Given the description of an element on the screen output the (x, y) to click on. 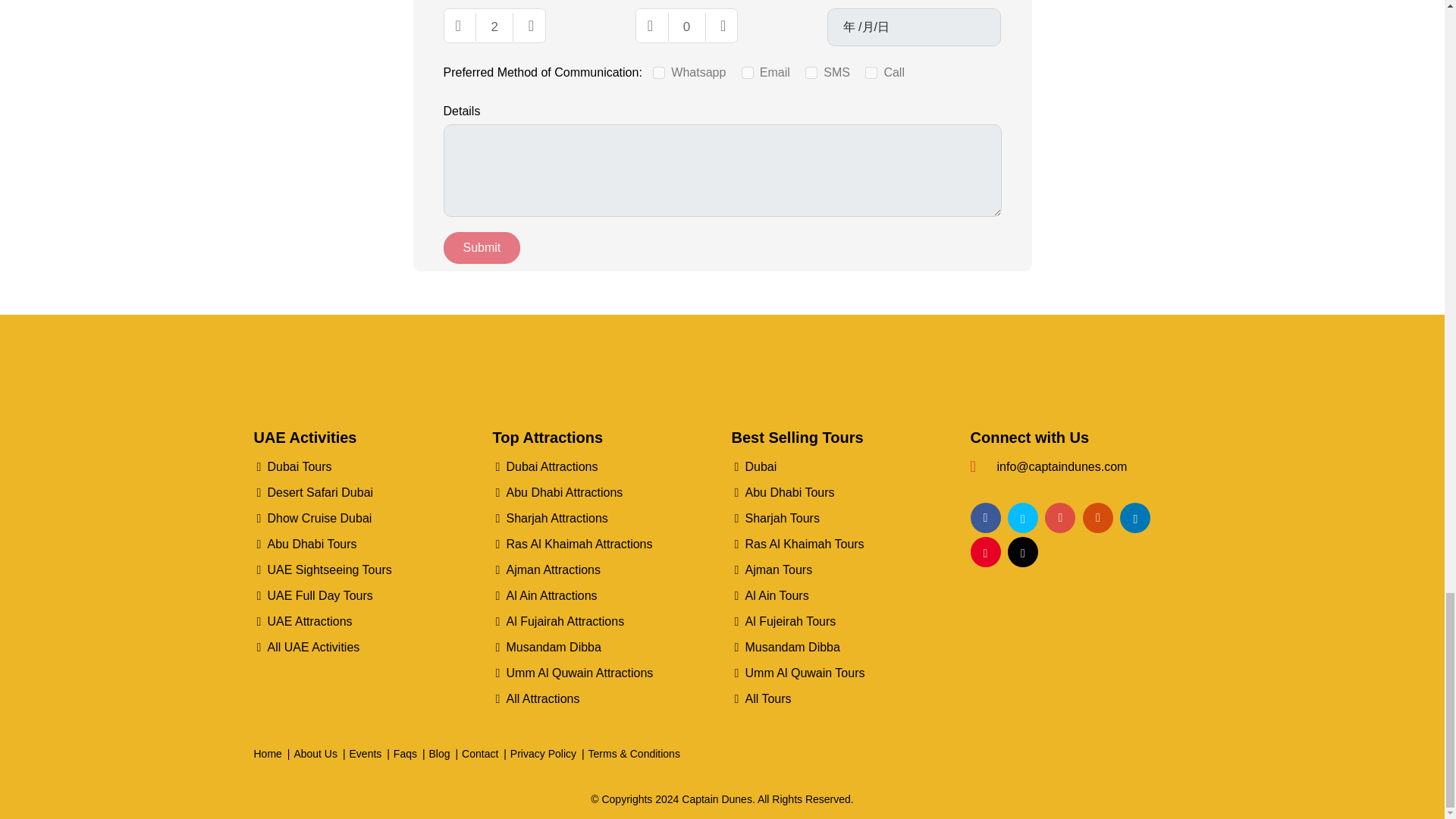
SMS (810, 72)
Whatsapp (658, 72)
Call (870, 72)
Submit (480, 247)
0 (687, 27)
Email (747, 72)
2 (494, 27)
